Given the description of an element on the screen output the (x, y) to click on. 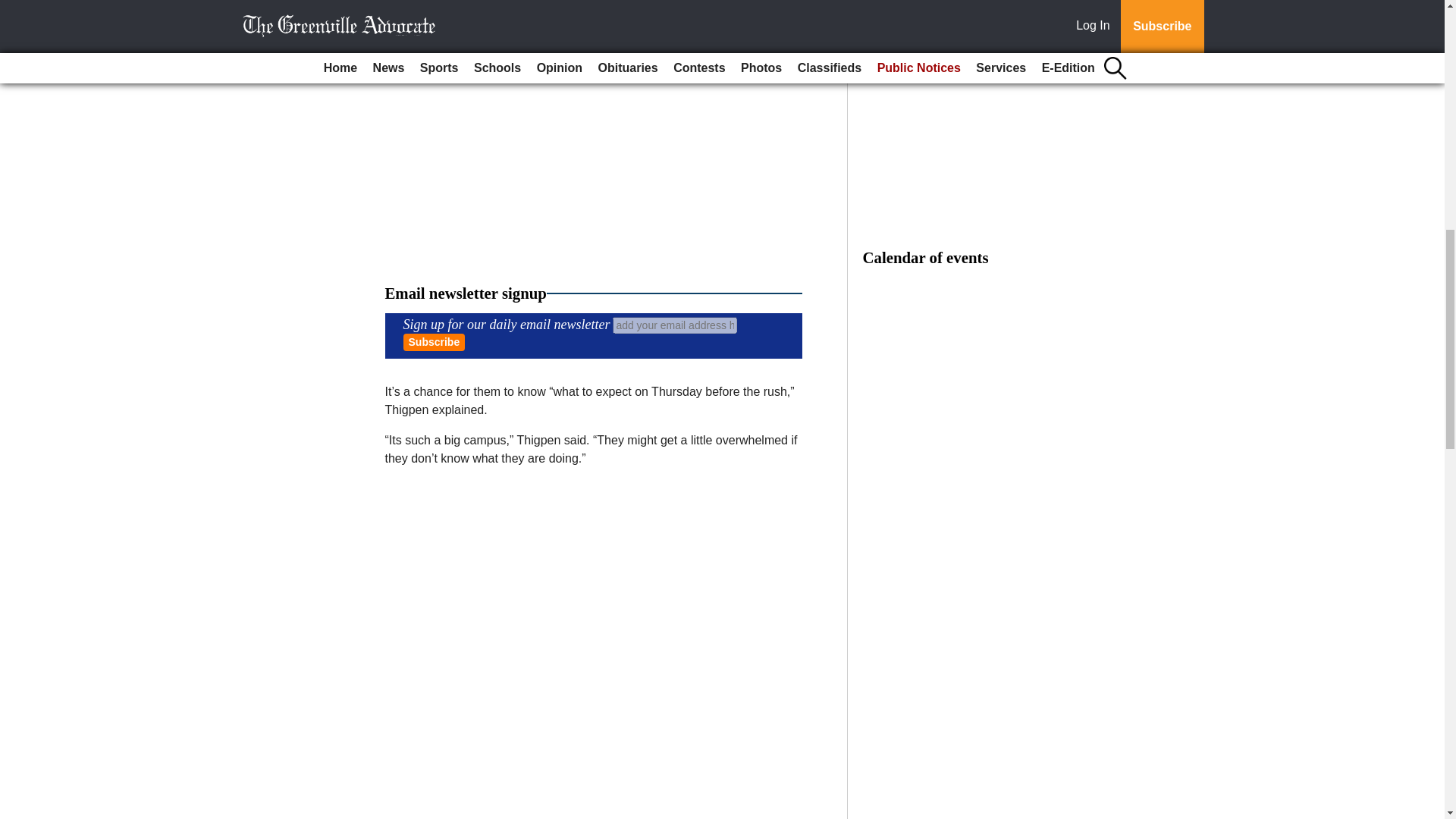
Subscribe (434, 342)
Subscribe (434, 342)
